Given the description of an element on the screen output the (x, y) to click on. 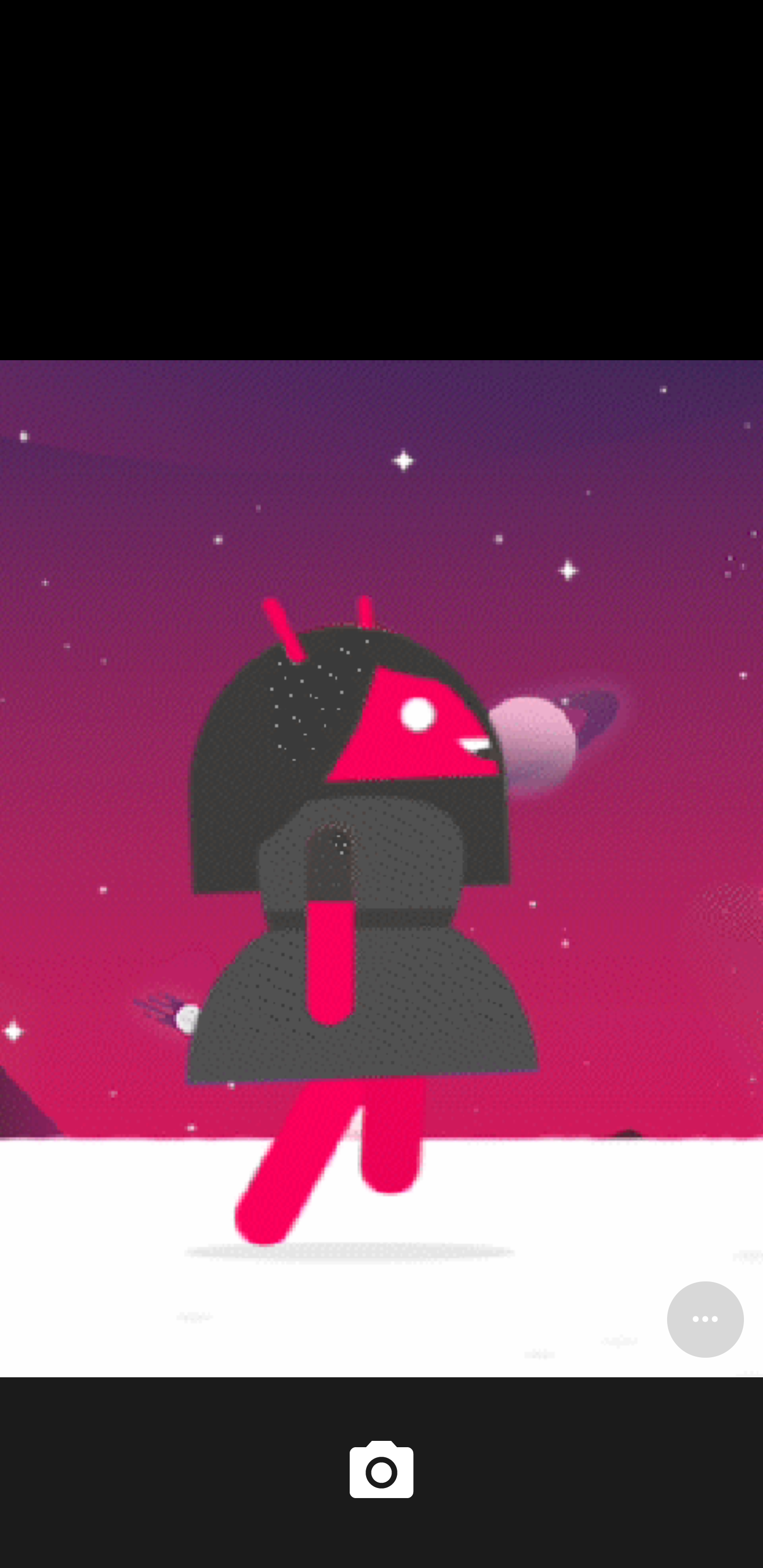
Options (704, 1319)
Shutter (381, 1472)
